Given the description of an element on the screen output the (x, y) to click on. 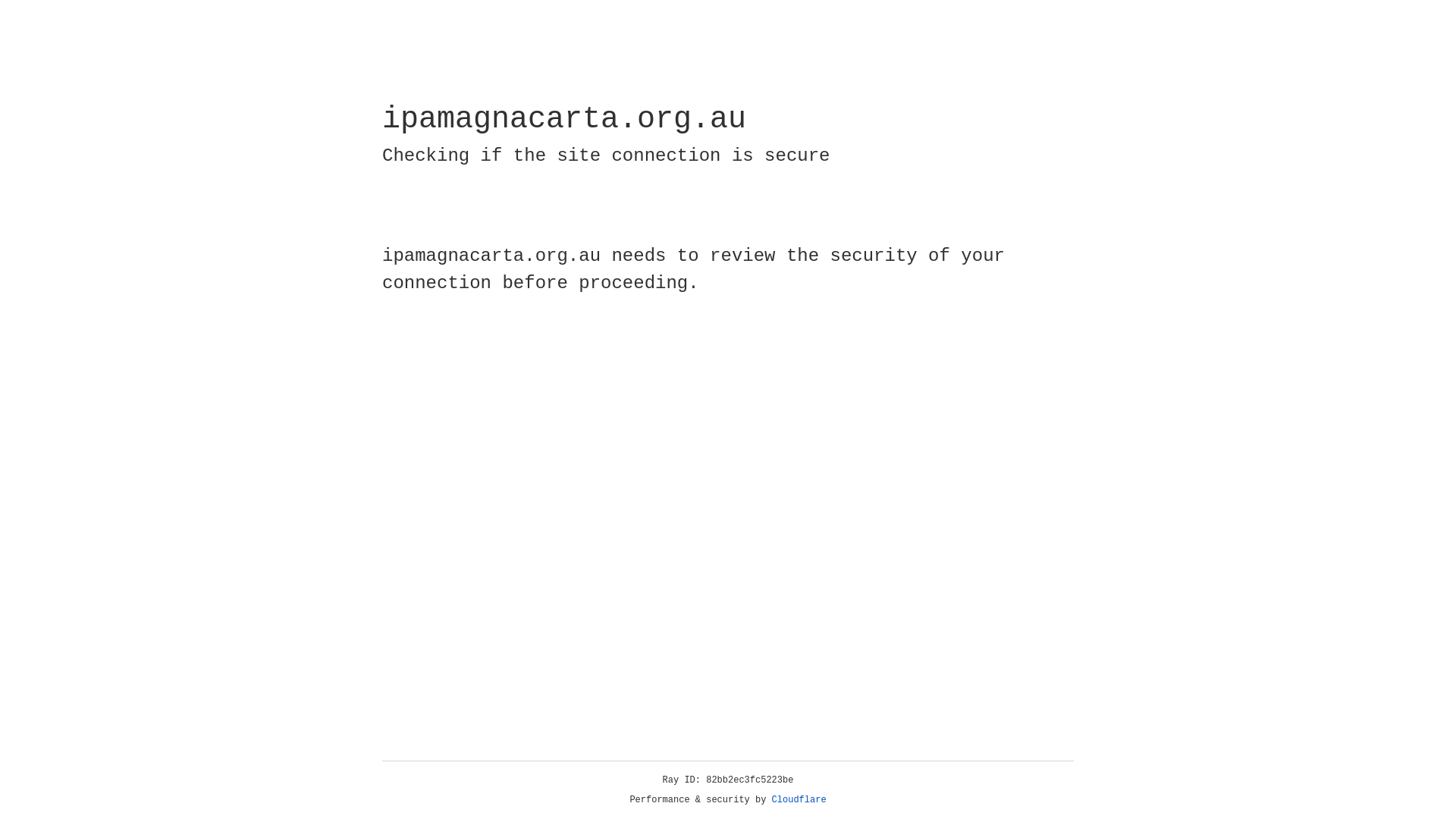
Cloudflare Element type: text (798, 799)
